Given the description of an element on the screen output the (x, y) to click on. 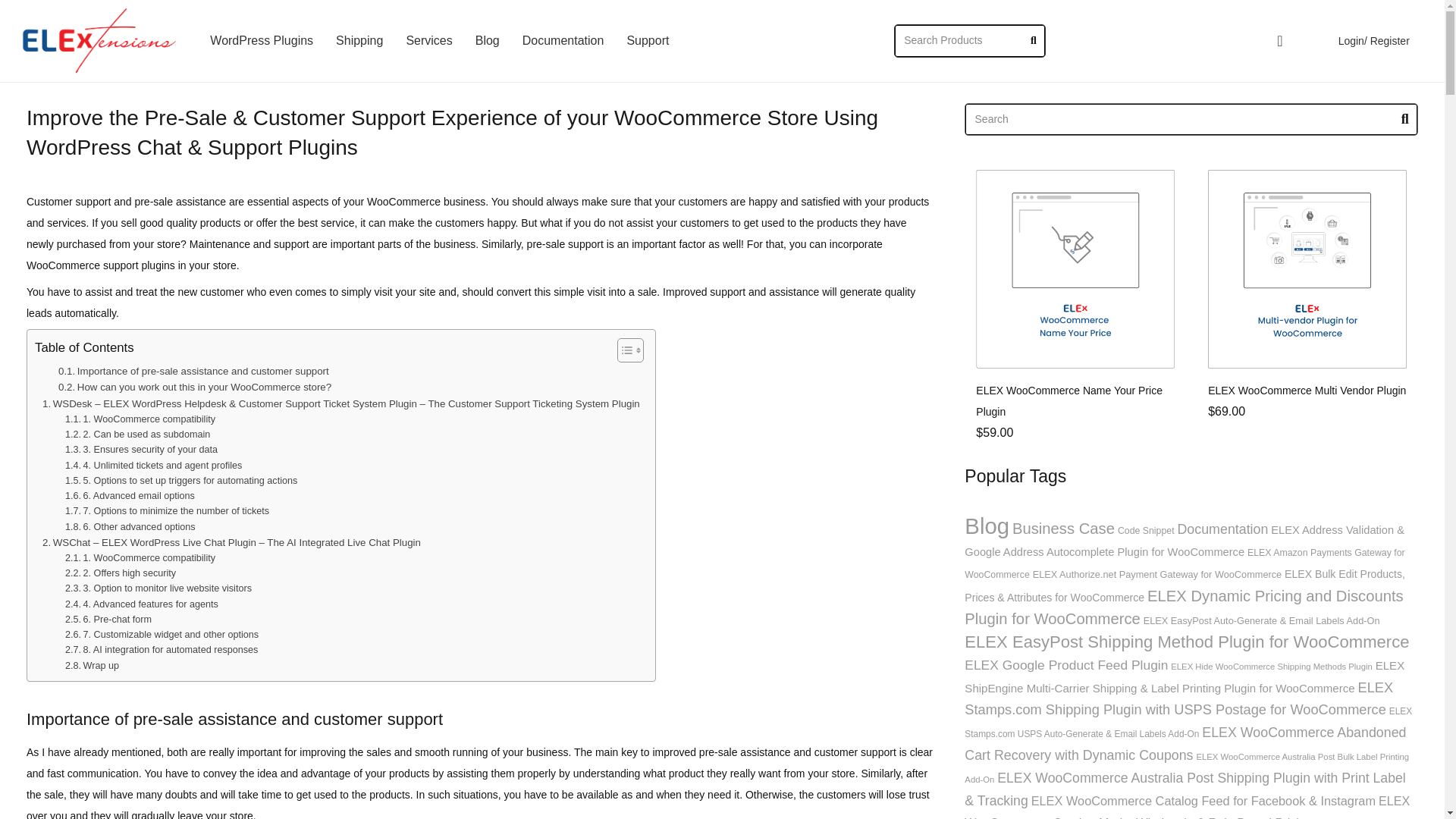
2. Offers high security (120, 572)
WordPress Plugins (261, 40)
Documentation (563, 40)
2. Offers high security (120, 572)
1. WooCommerce compatibility (140, 418)
4. Unlimited tickets and agent profiles (153, 465)
5. Options to set up triggers for automating actions (181, 480)
4. Advanced features for agents (141, 604)
3. Ensures security of your data (140, 449)
6. Other advanced options (130, 525)
6. Advanced email options (130, 495)
How can you work out this in your WooCommerce store? (194, 386)
Importance of pre-sale assistance and customer support (193, 371)
5. Options to set up triggers for automating actions (181, 480)
6. Advanced email options (130, 495)
